Given the description of an element on the screen output the (x, y) to click on. 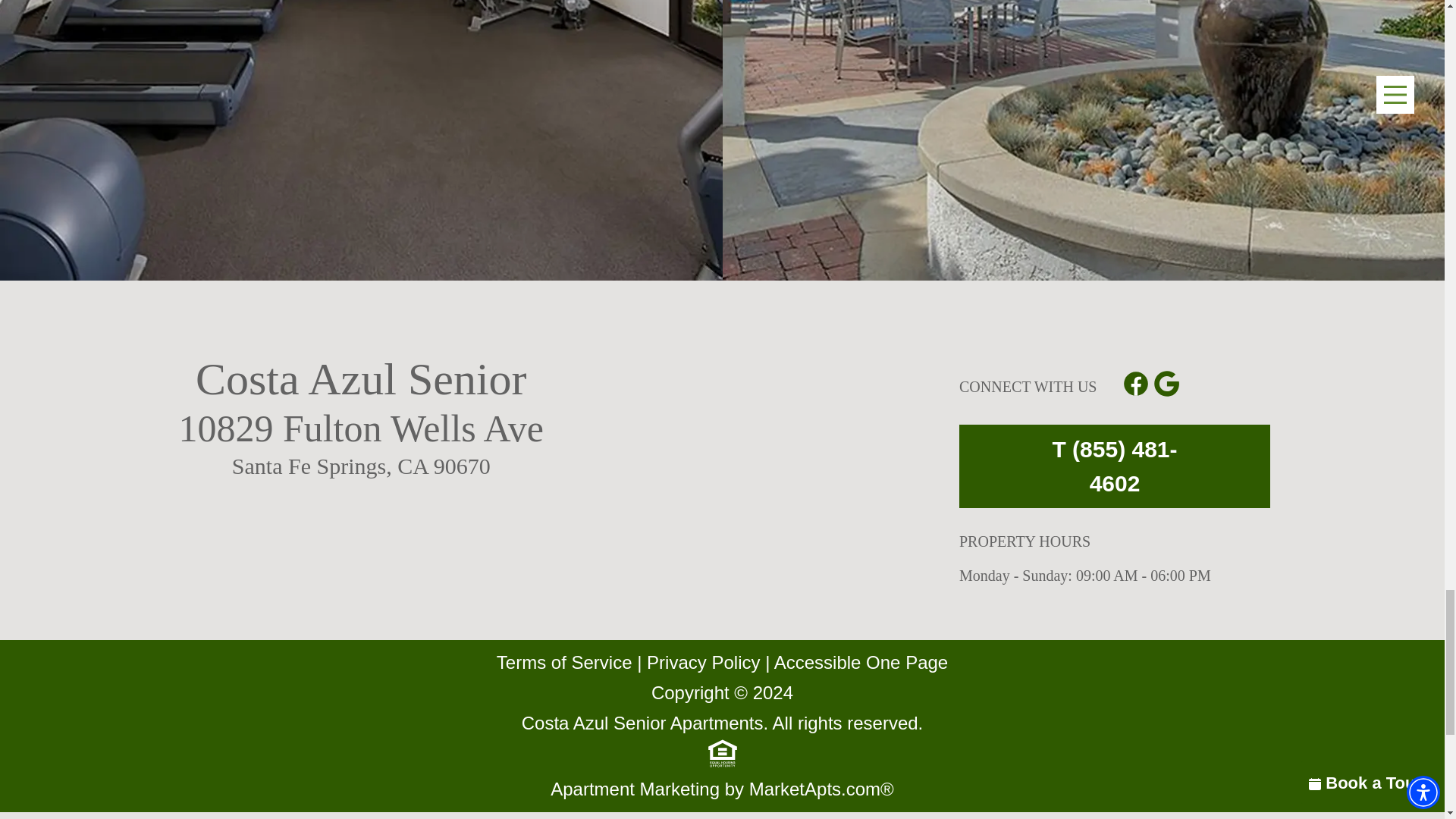
Terms of Service (563, 662)
Accessible One Page (860, 662)
